Given the description of an element on the screen output the (x, y) to click on. 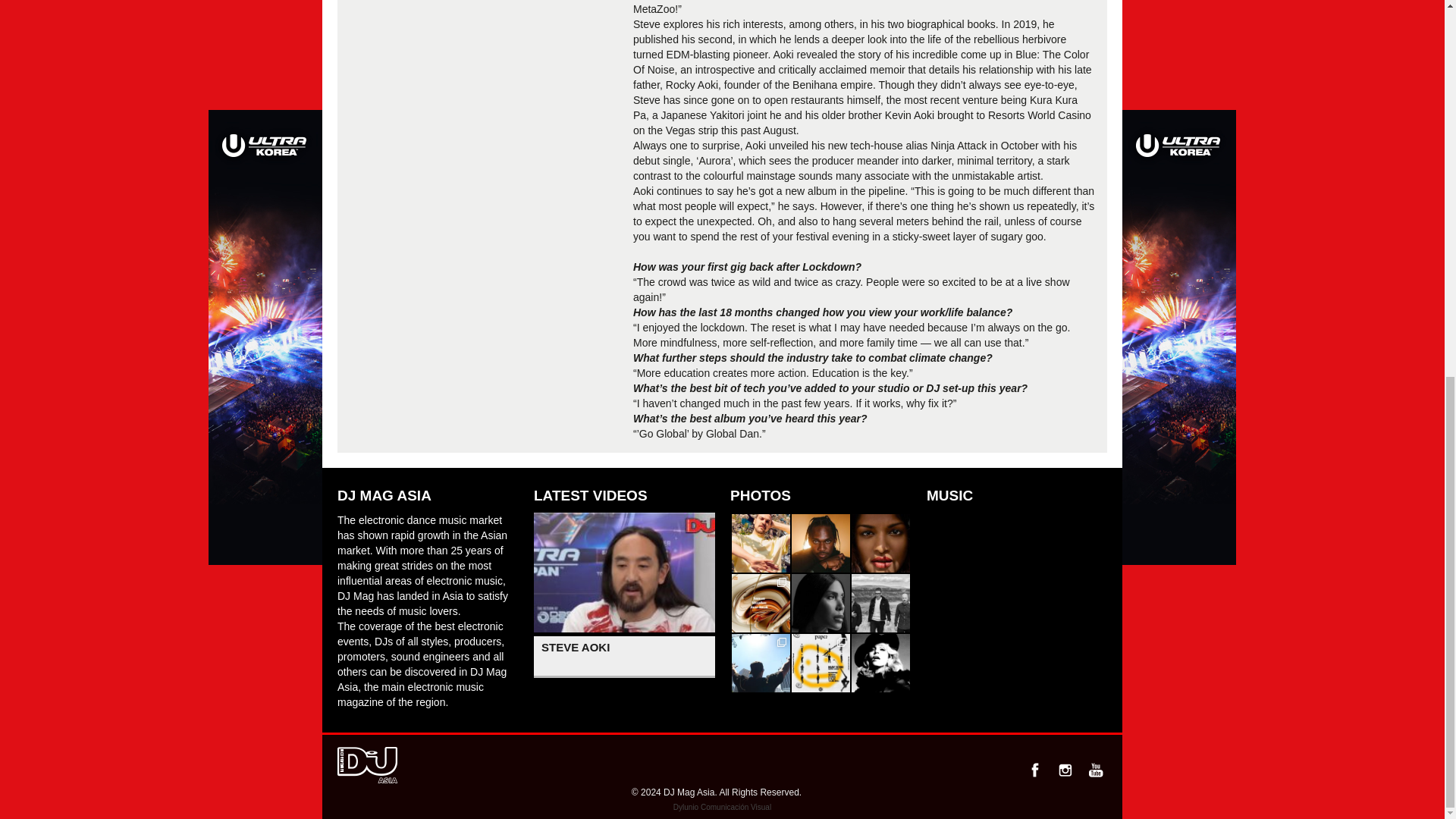
facebook (1034, 769)
instagram (1065, 769)
After his successful passage through the 22nd edit (761, 662)
youtube (1095, 769)
MORGAN HISLOP AND ORCHID LINK UP ON NEW SINGLE (761, 543)
STEVE AOKI (624, 657)
